Given the description of an element on the screen output the (x, y) to click on. 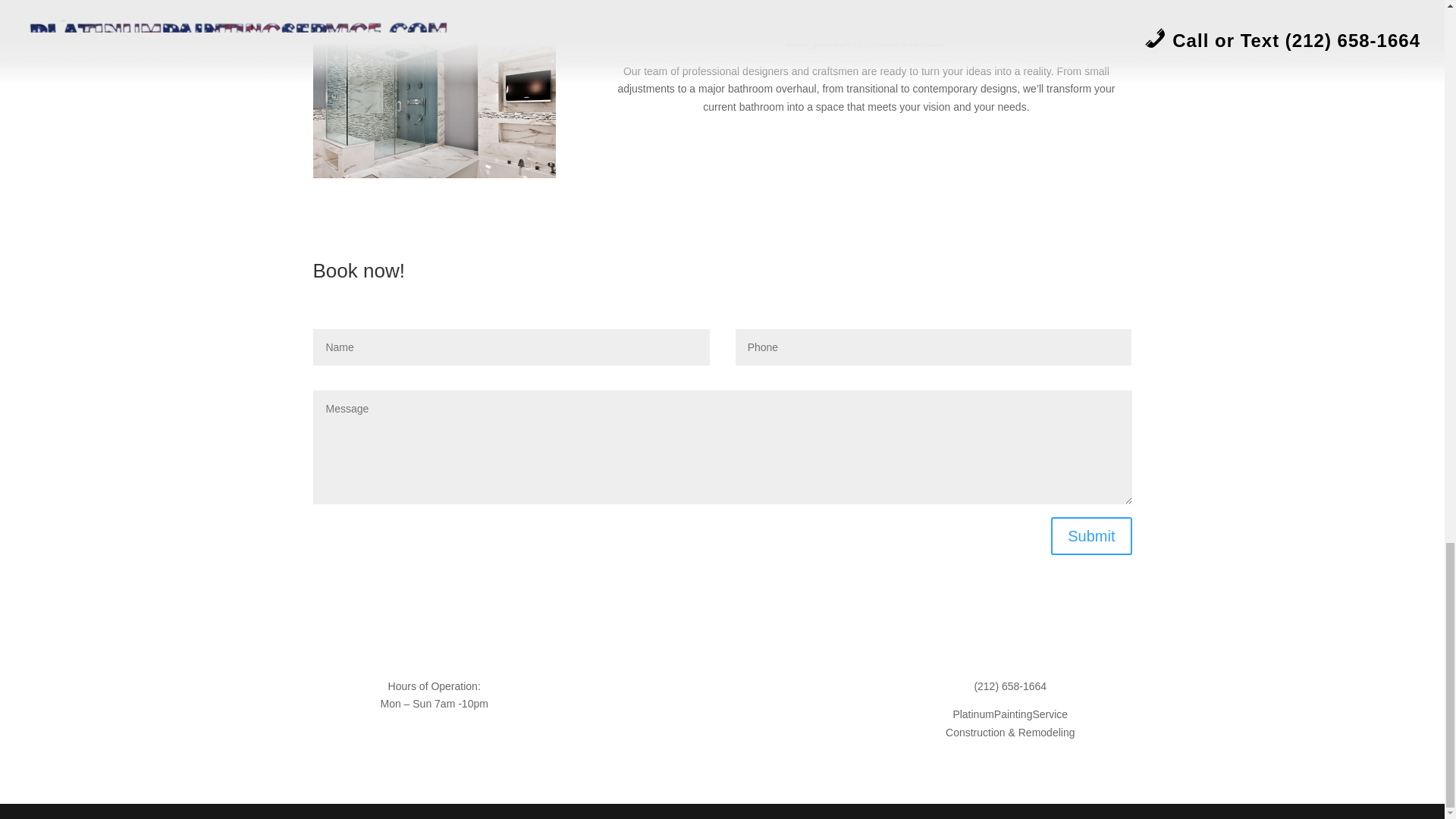
Submit (1091, 535)
